Given the description of an element on the screen output the (x, y) to click on. 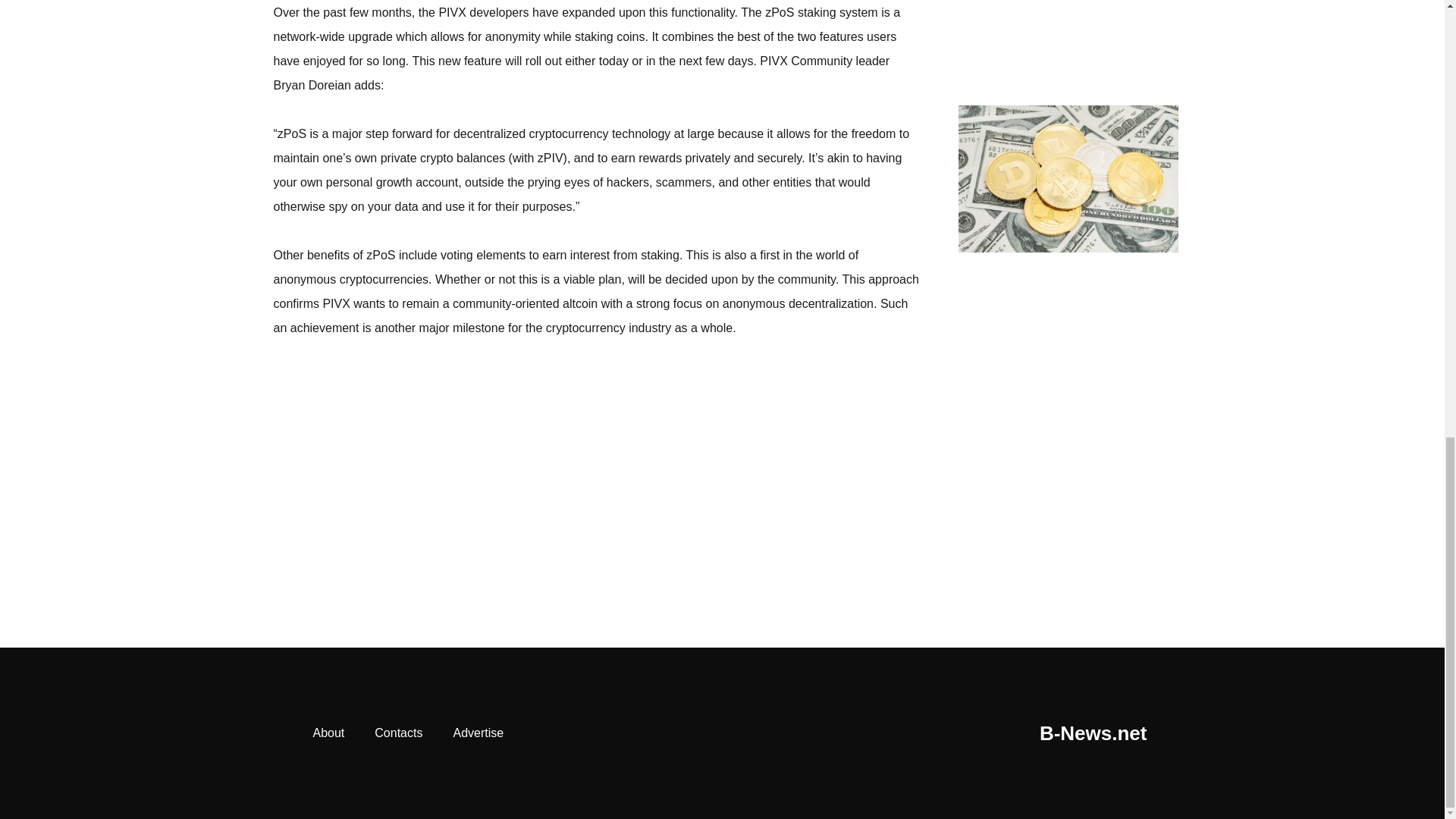
Contacts (398, 733)
About (328, 733)
Advertise (478, 733)
